Given the description of an element on the screen output the (x, y) to click on. 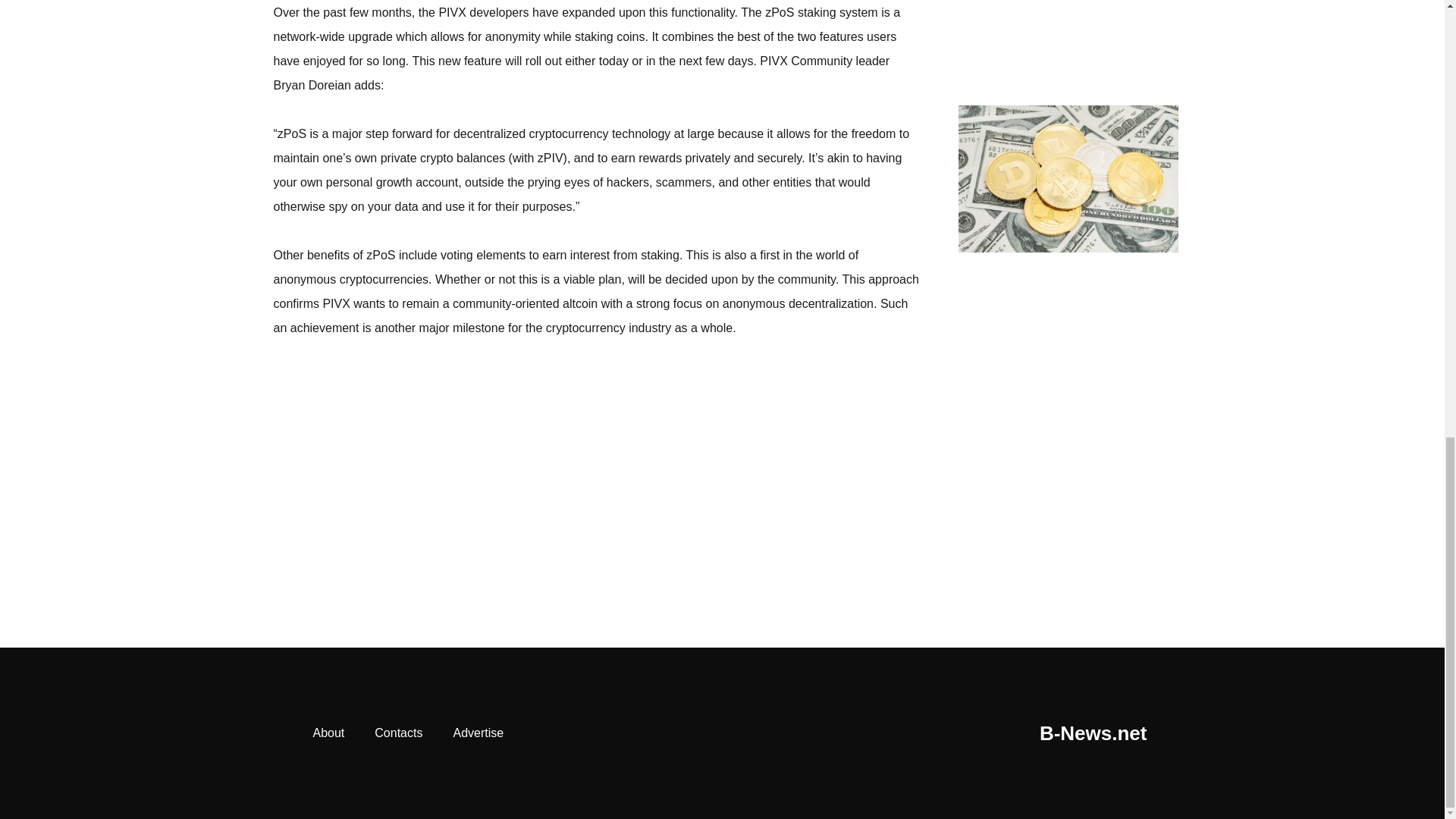
Contacts (398, 733)
About (328, 733)
Advertise (478, 733)
